Given the description of an element on the screen output the (x, y) to click on. 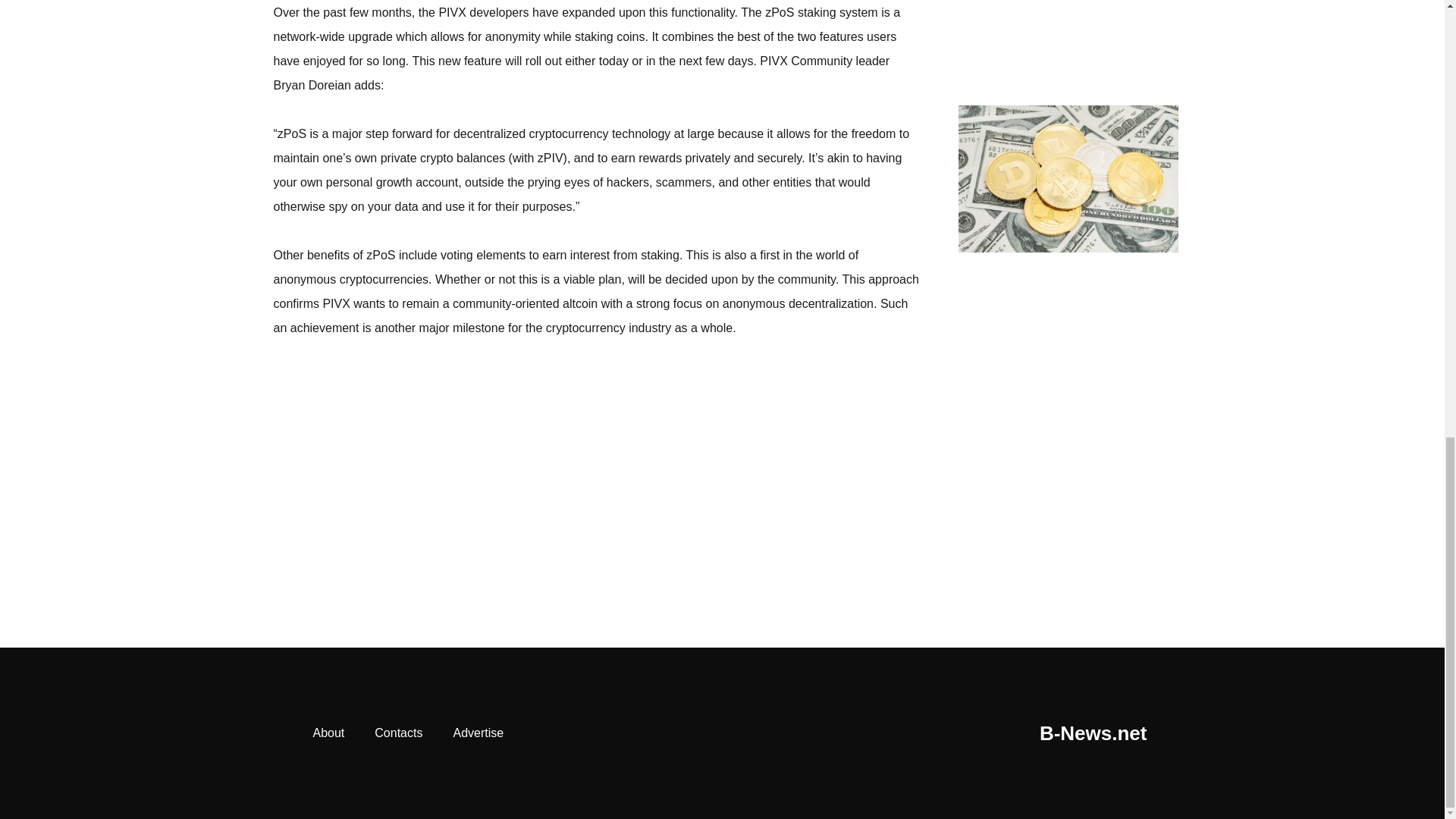
Contacts (398, 733)
About (328, 733)
Advertise (478, 733)
